Given the description of an element on the screen output the (x, y) to click on. 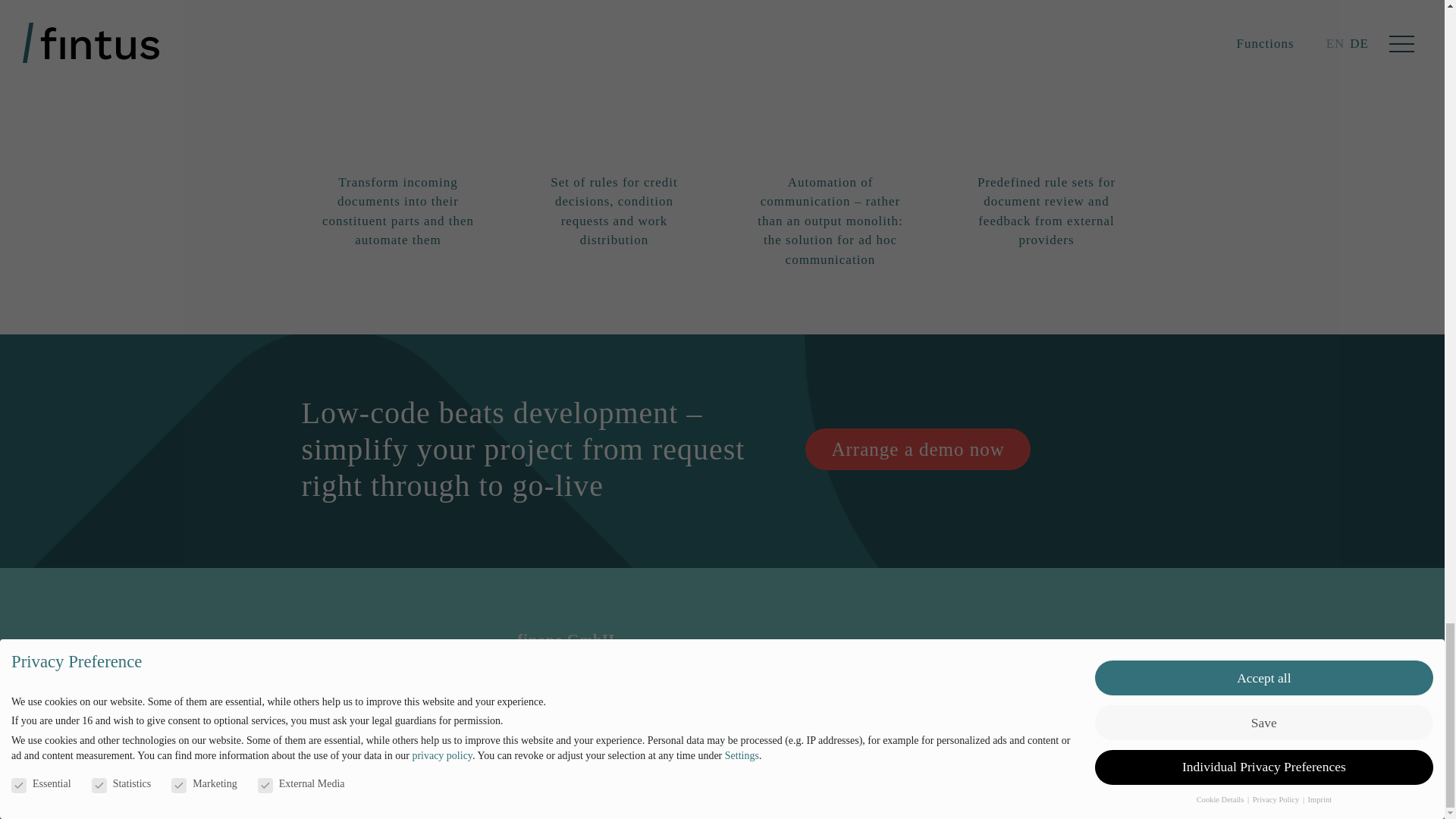
Arrange a demo now (917, 449)
